Given the description of an element on the screen output the (x, y) to click on. 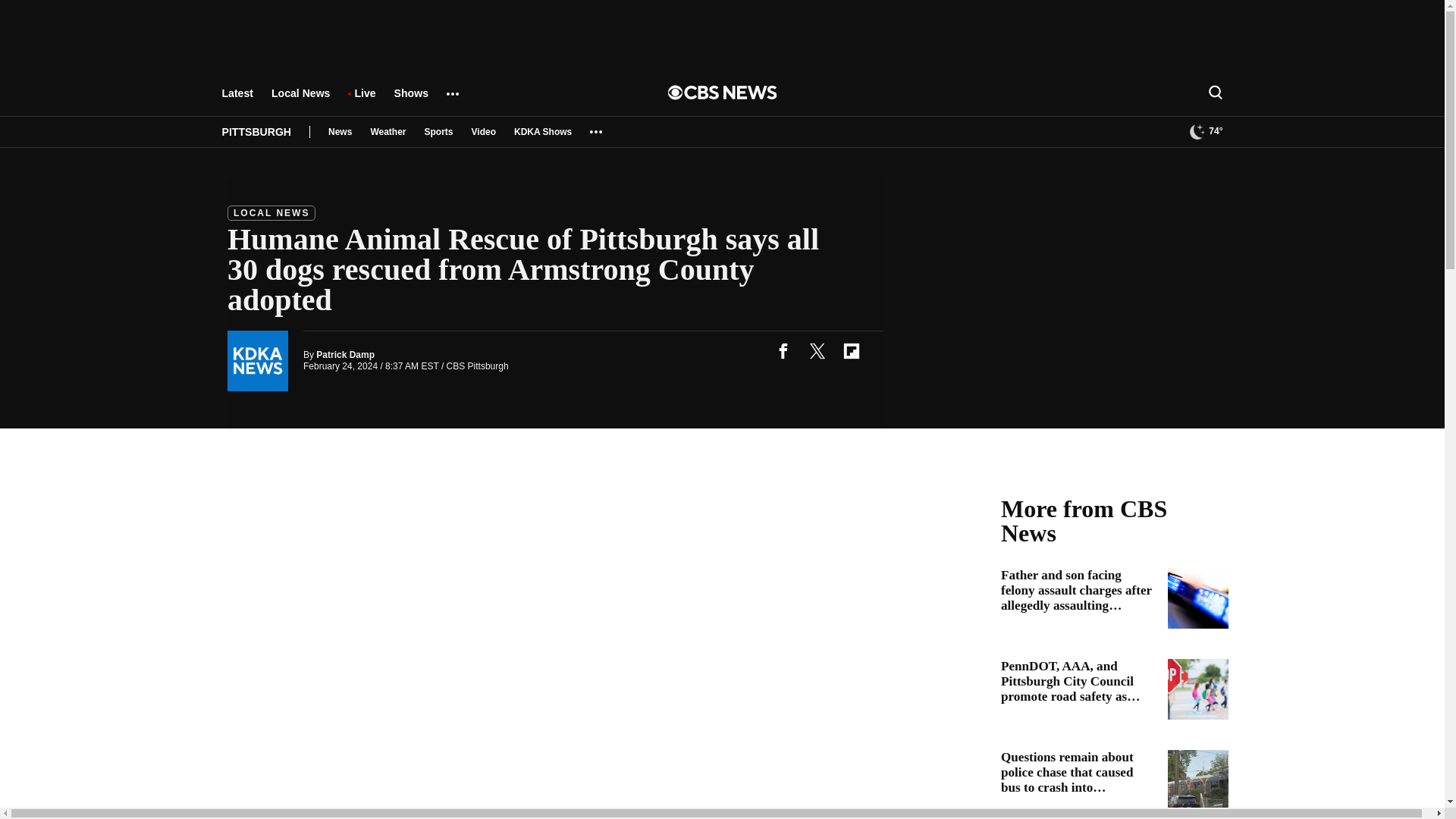
twitter (816, 350)
flipboard (850, 350)
Local News (300, 100)
Latest (236, 100)
facebook (782, 350)
